Given the description of an element on the screen output the (x, y) to click on. 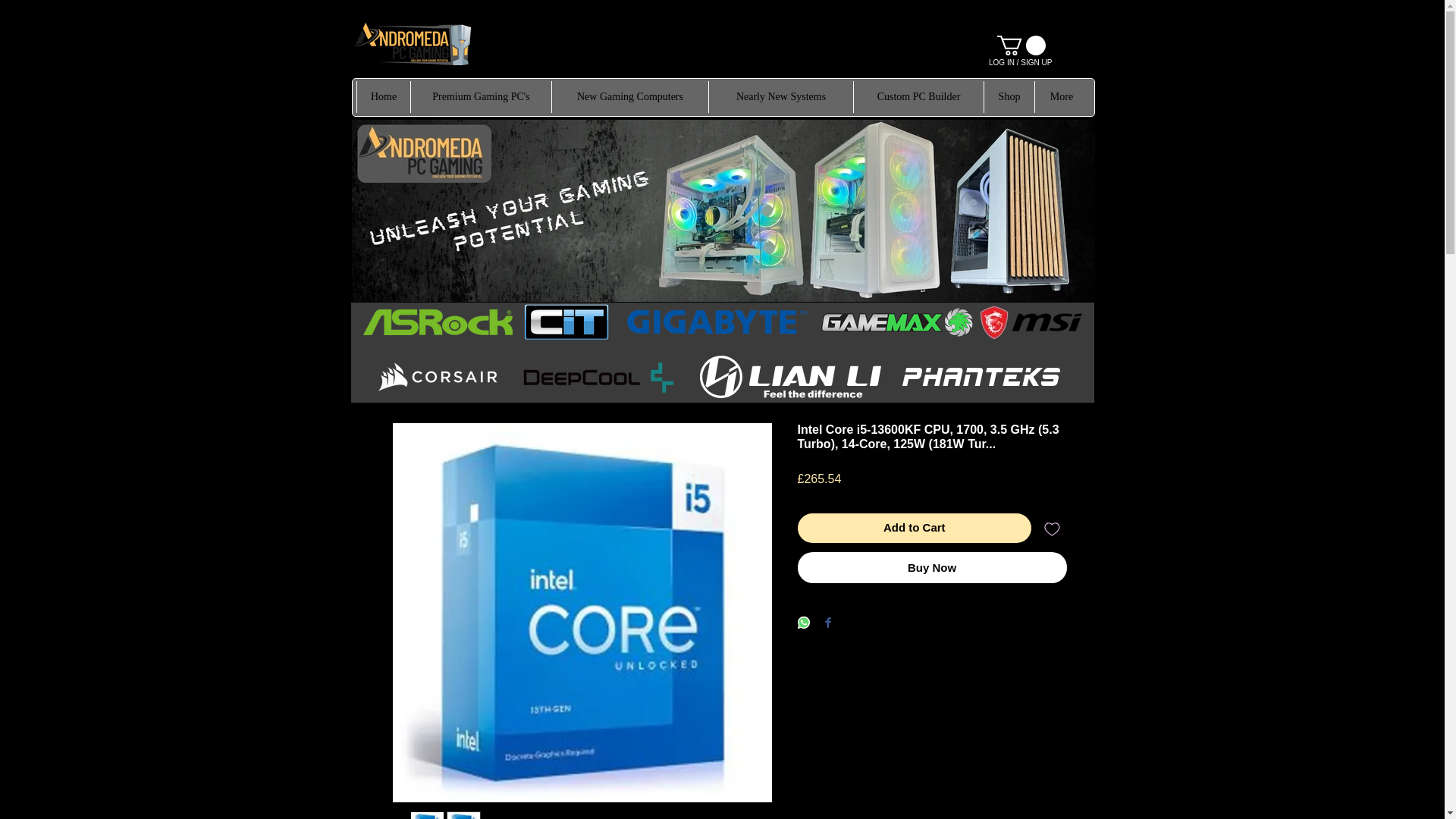
Nearly New Systems (780, 97)
Custom PC Builder (918, 97)
Shop (1008, 97)
Andromeda PC Gaming (411, 43)
Home (383, 97)
New Gaming Computers (629, 97)
Buy Now (932, 567)
Add to Cart (914, 527)
Premium Gaming PC's (480, 97)
